Given the description of an element on the screen output the (x, y) to click on. 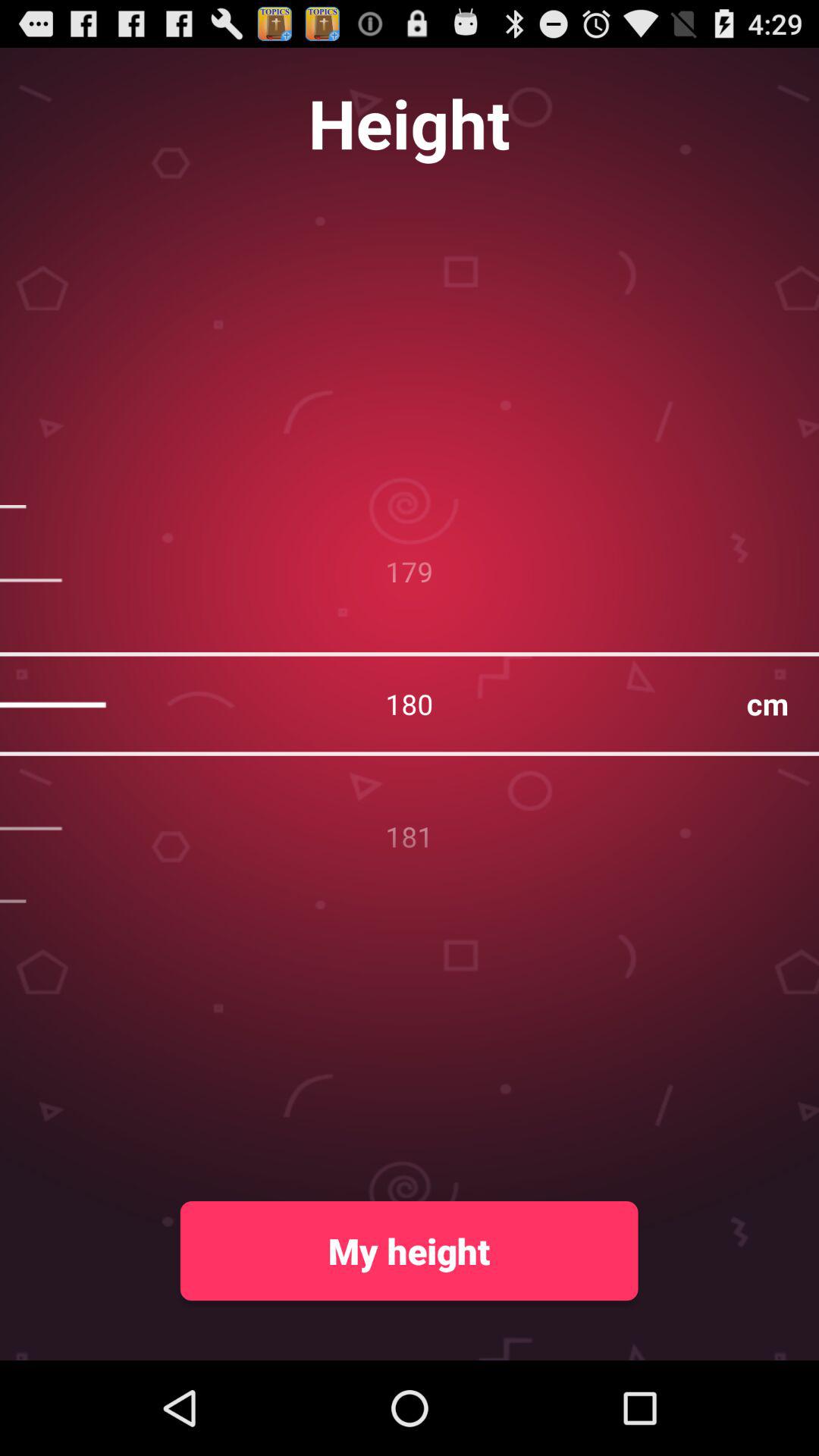
select the item below the height (409, 703)
